Given the description of an element on the screen output the (x, y) to click on. 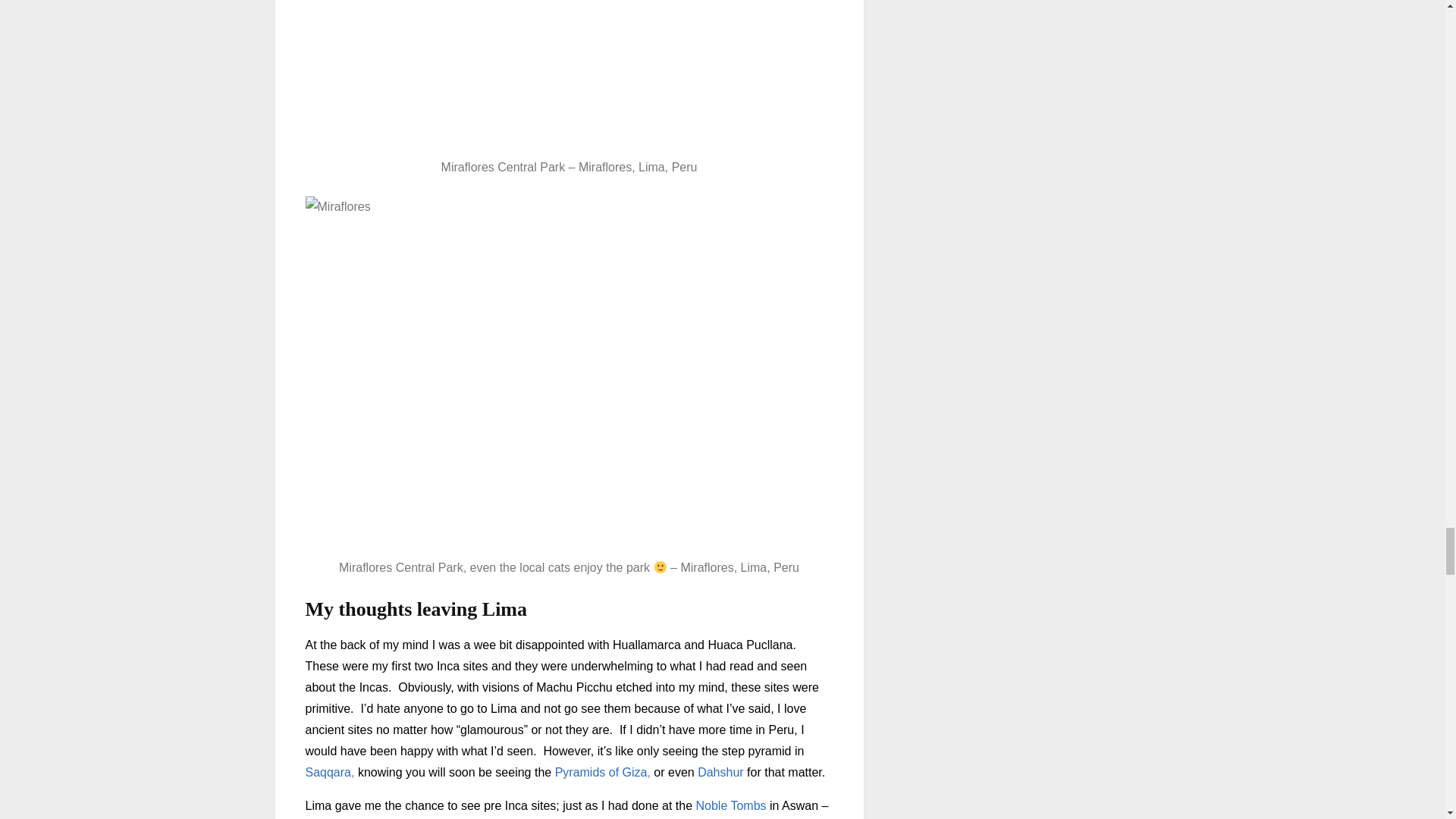
Saqqara (327, 771)
Dahshur (719, 771)
Pyramids of Giza (600, 771)
